Given the description of an element on the screen output the (x, y) to click on. 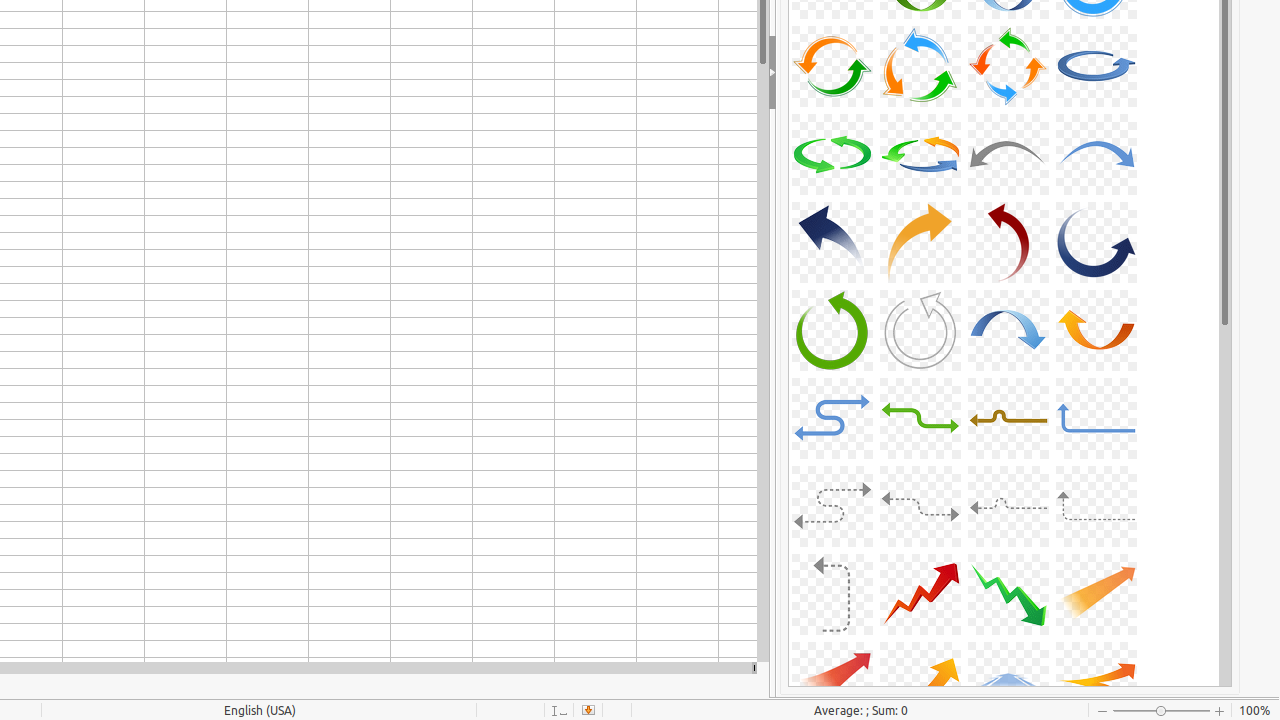
A40-CurvedArrow-Gray-Up Element type: list-item (1096, 506)
A43-TrendArrow-Green-GoDown Element type: list-item (1008, 594)
A36-CurvedArrow-LightBlue-Up Element type: list-item (1096, 417)
A41-CurvedArrow-Gray-Left Element type: list-item (832, 594)
A19-CircleArrow Element type: list-item (1008, 65)
